Given the description of an element on the screen output the (x, y) to click on. 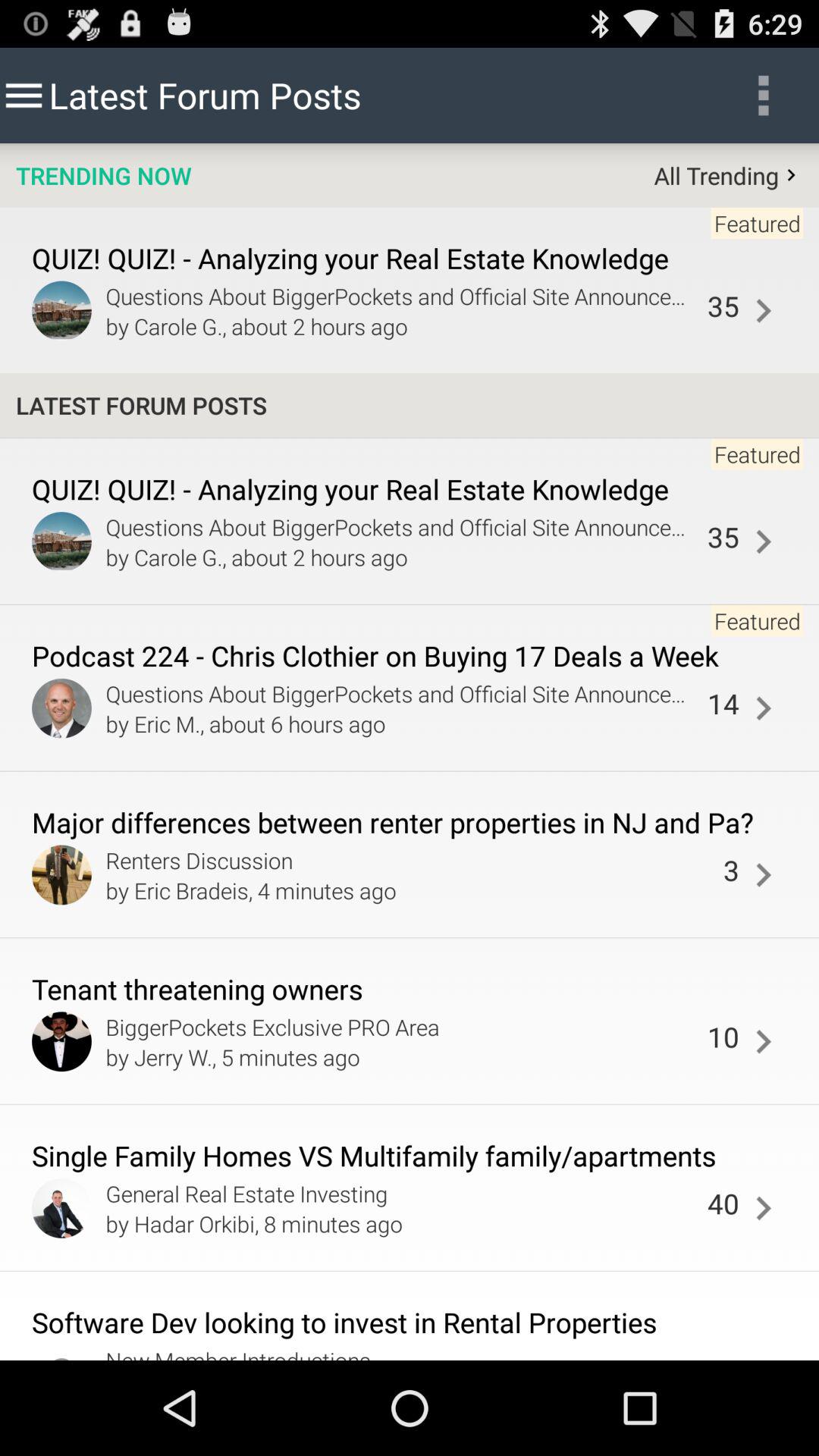
turn on the app below the quiz quiz analyzing item (763, 541)
